Given the description of an element on the screen output the (x, y) to click on. 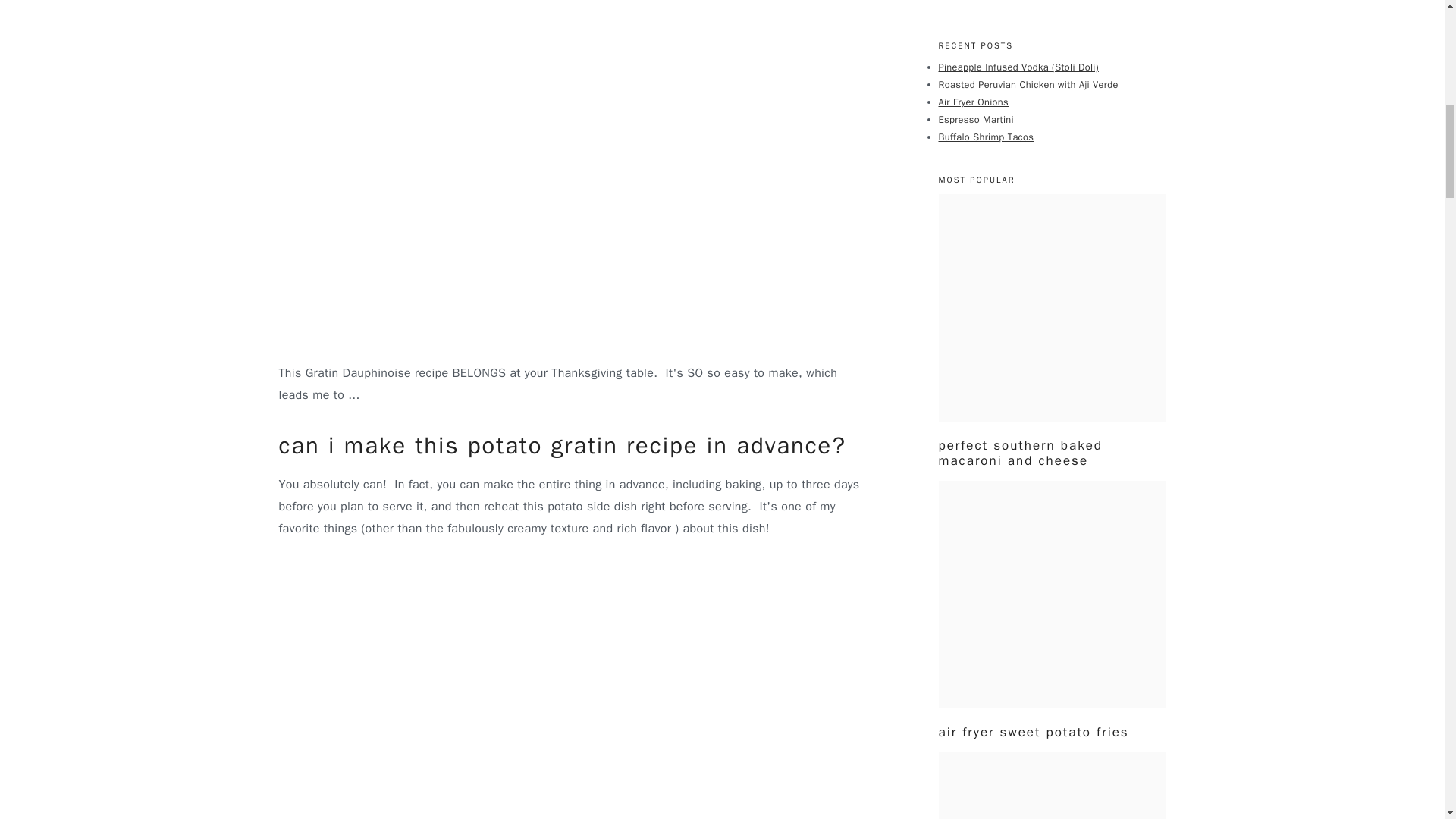
Air Fryer Sweet Potato Fries (1052, 594)
Baked Chicken Leg Quarters (1052, 785)
Perfect Southern Baked Macaroni and Cheese (1052, 307)
